Given the description of an element on the screen output the (x, y) to click on. 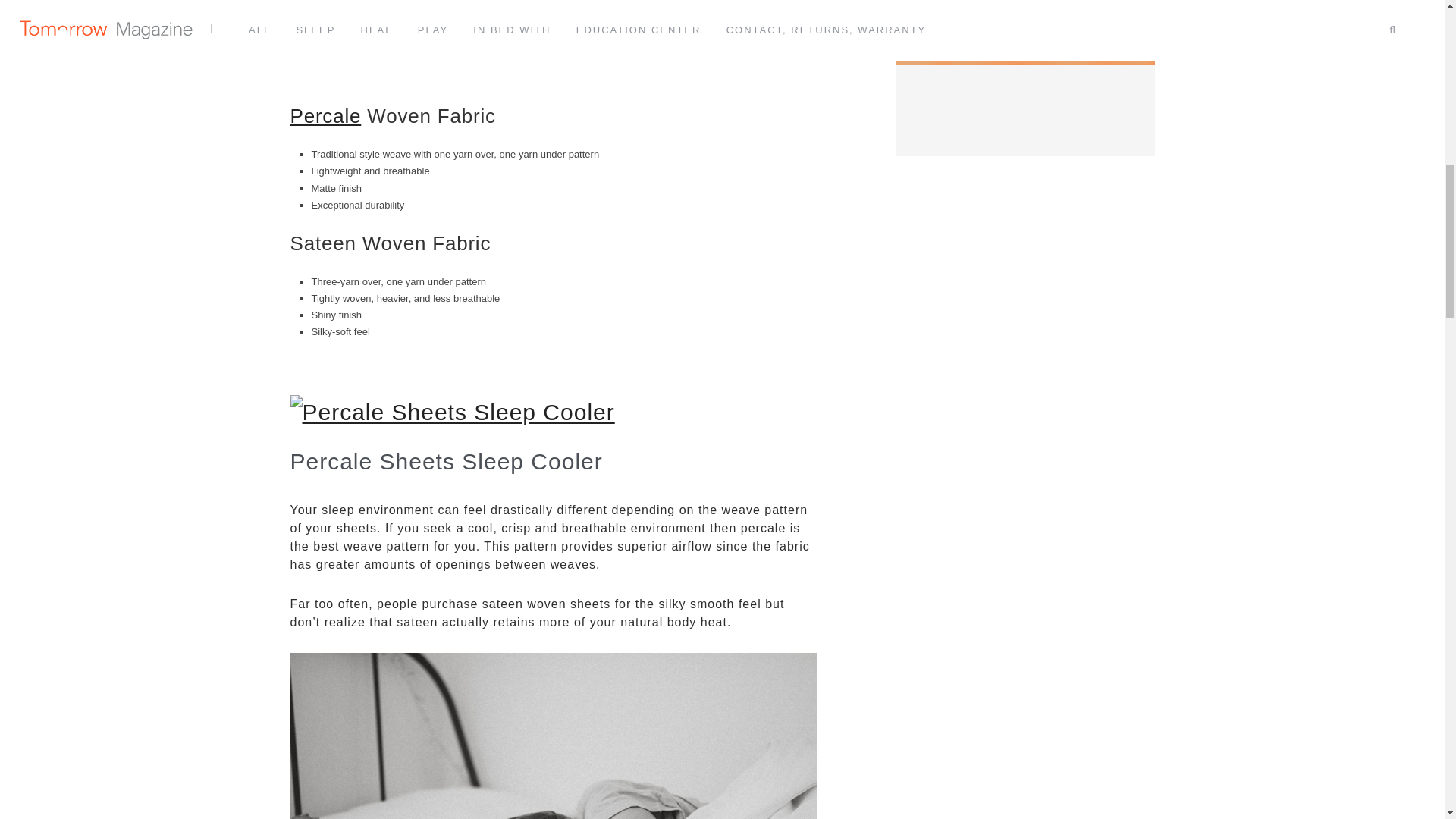
Sateen vs Percale (552, 32)
Percale Sheets Durability (552, 735)
Percale Sheets Sleep Cooler (451, 411)
Percale (325, 115)
